Given the description of an element on the screen output the (x, y) to click on. 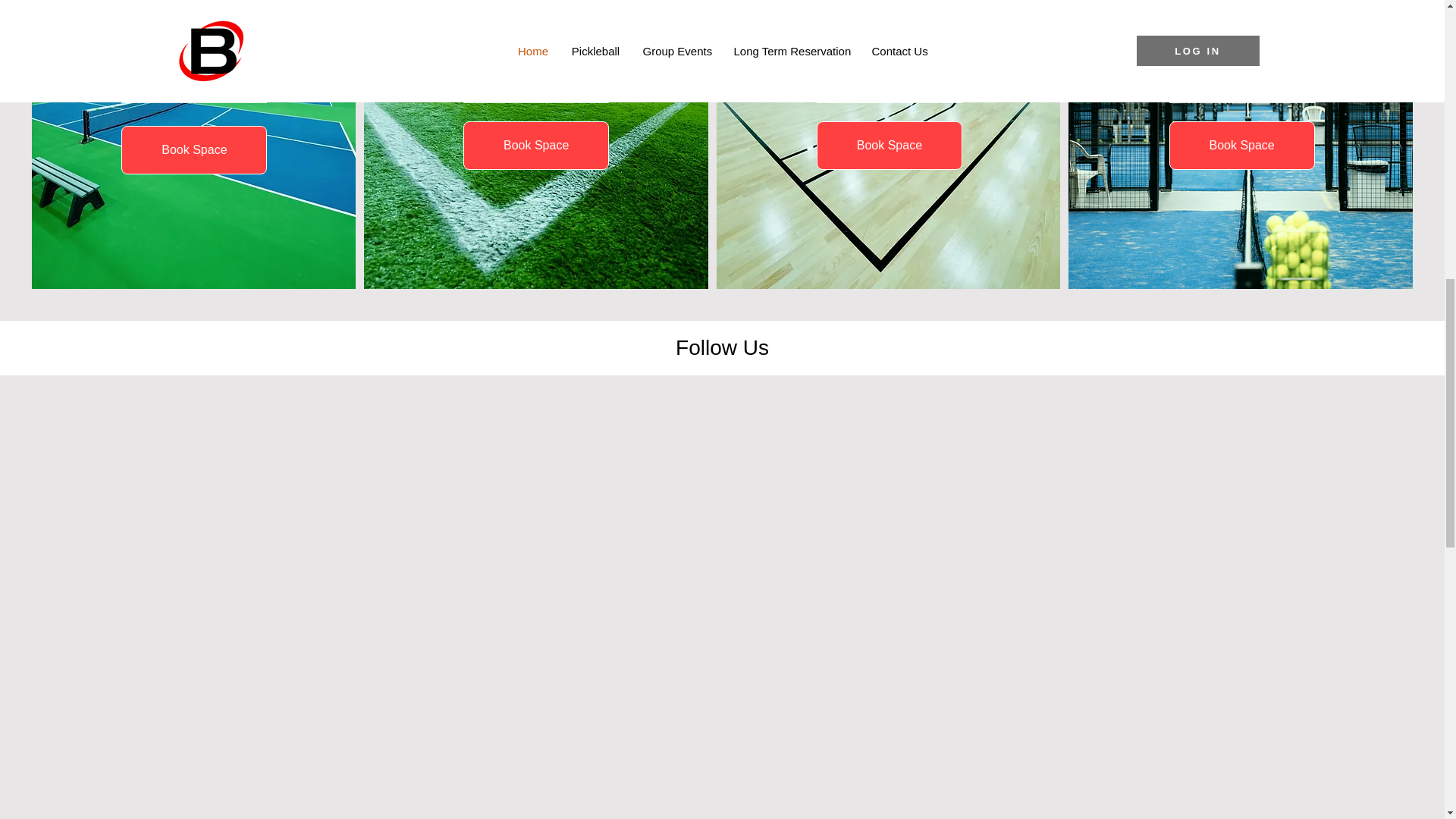
Book Space (889, 145)
Book Space (193, 150)
Book Space (1241, 145)
Book Space (535, 145)
